Given the description of an element on the screen output the (x, y) to click on. 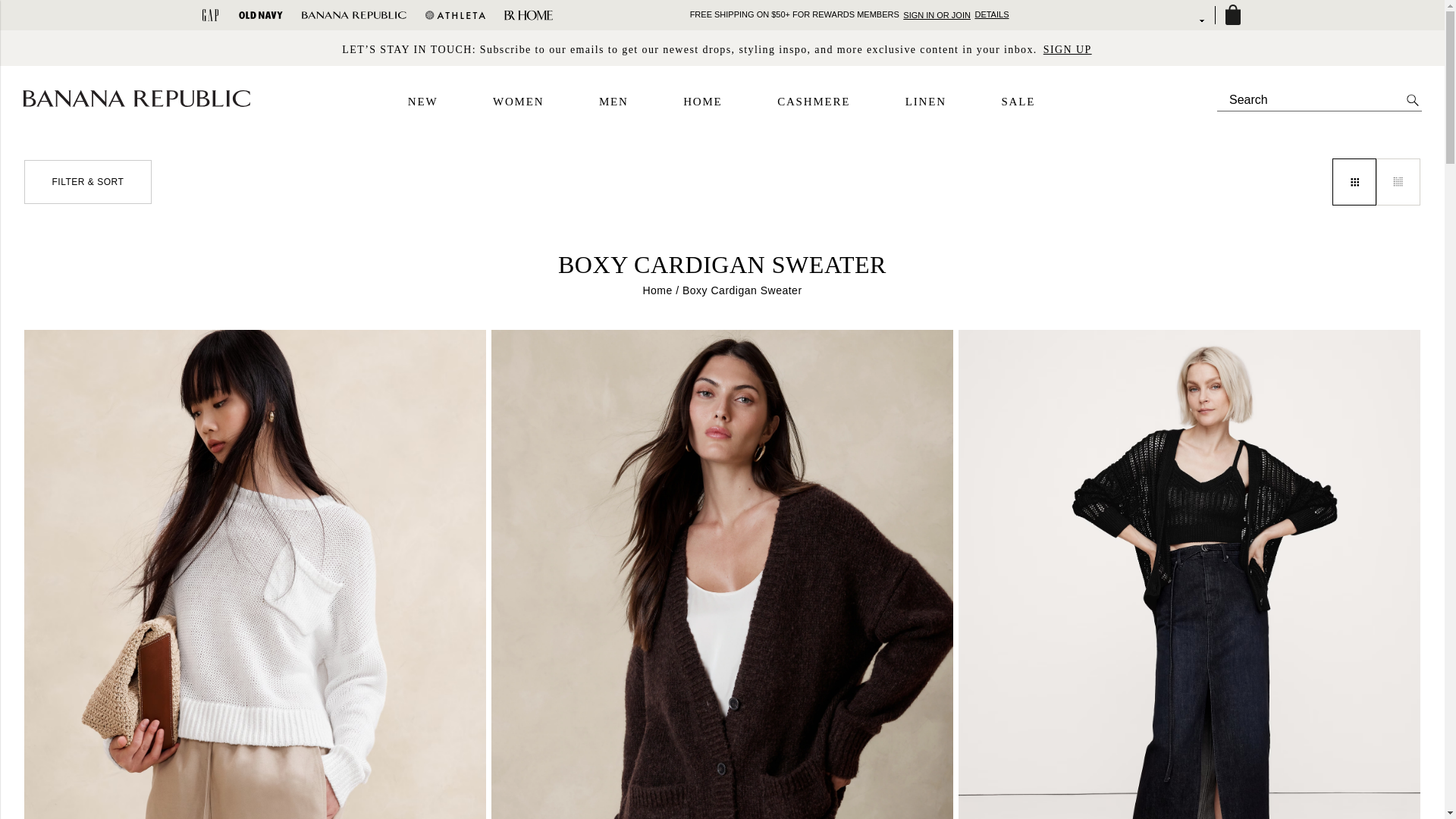
SIGN IN OR JOIN (937, 14)
Bag (1232, 15)
SALE (1018, 101)
HOME (702, 101)
CASHMERE (813, 101)
SIGN UP (1067, 49)
